Given the description of an element on the screen output the (x, y) to click on. 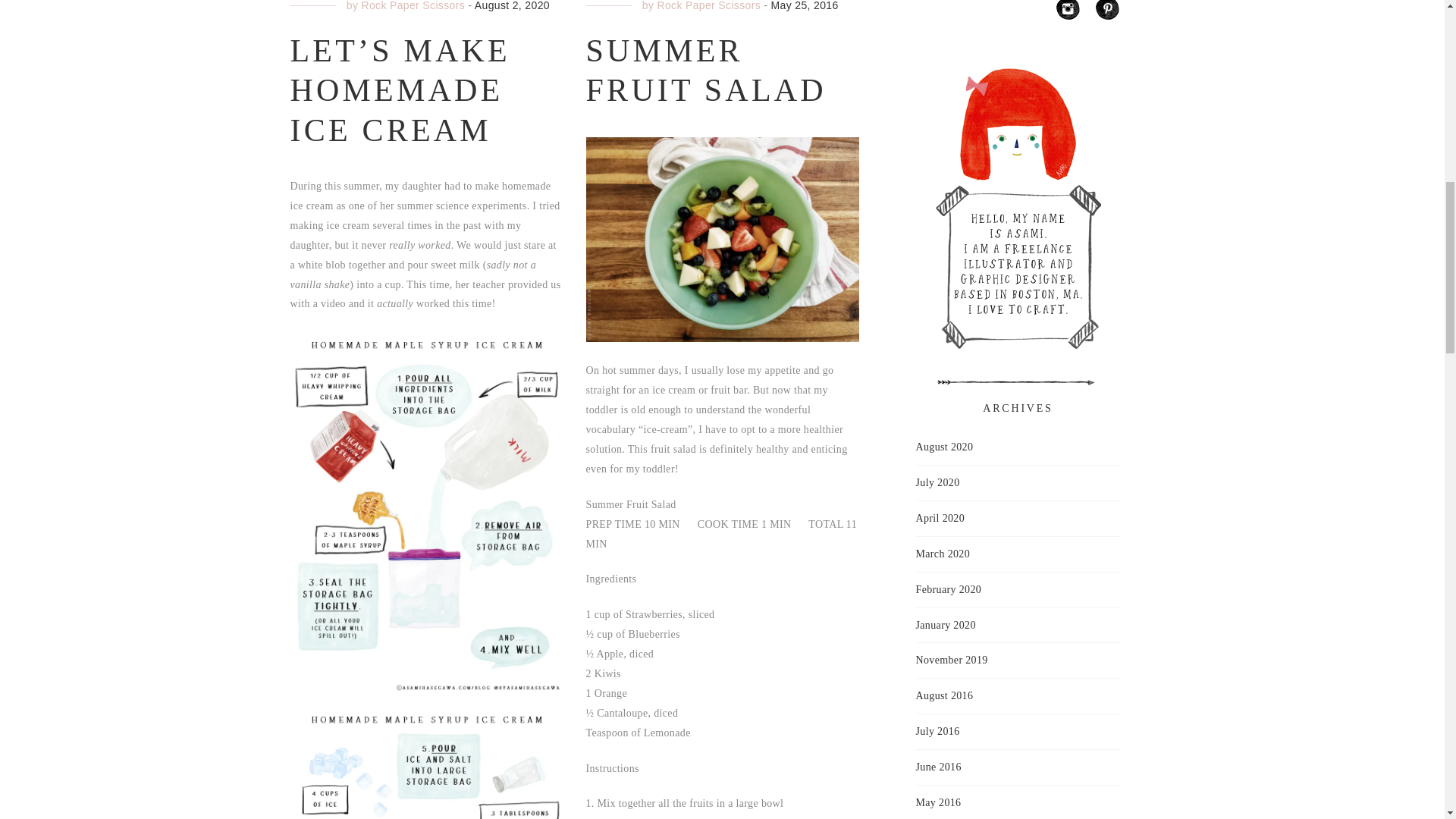
June 2016 (937, 767)
May 2016 (937, 803)
July 2020 (937, 483)
January 2020 (945, 625)
Rock Paper Scissors (412, 5)
February 2020 (948, 589)
August 2016 (944, 695)
August 2020 (944, 447)
May 25, 2016 (804, 5)
August 2, 2020 (512, 5)
March 2020 (943, 554)
Rock Paper Scissors (708, 5)
SUMMER FRUIT SALAD (705, 70)
November 2019 (951, 660)
July 2016 (937, 731)
